Given the description of an element on the screen output the (x, y) to click on. 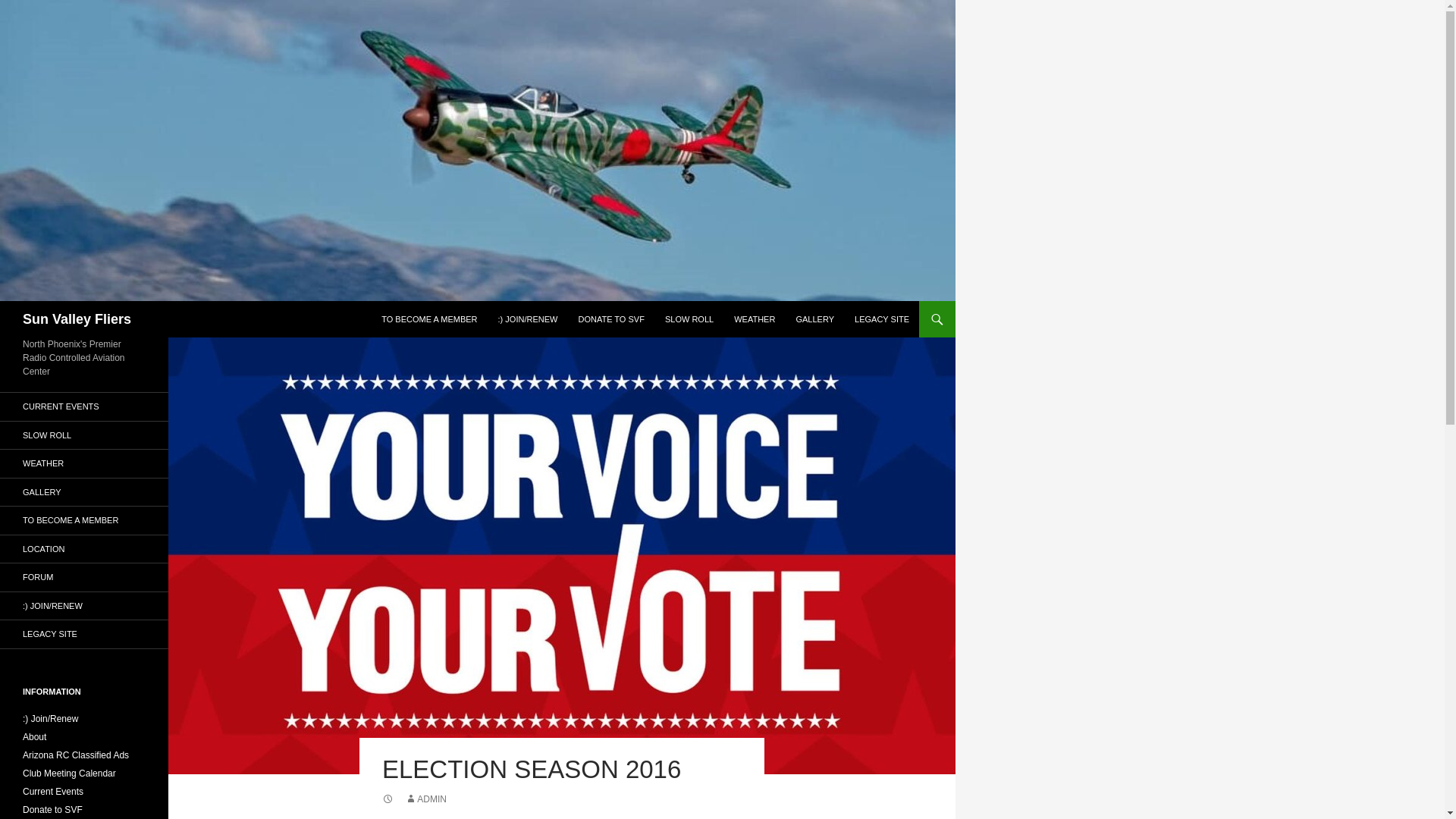
LEGACY SITE (84, 633)
ADMIN (425, 798)
Club Meeting Calendar (69, 773)
LEGACY SITE (881, 319)
Donate to SVF (52, 809)
Arizona RC Classified Ads (76, 755)
FORUM (84, 577)
WEATHER (754, 319)
SLOW ROLL (84, 435)
About (34, 737)
GALLERY (84, 491)
DONATE TO SVF (610, 319)
CURRENT EVENTS (84, 406)
LOCATION (84, 549)
